Given the description of an element on the screen output the (x, y) to click on. 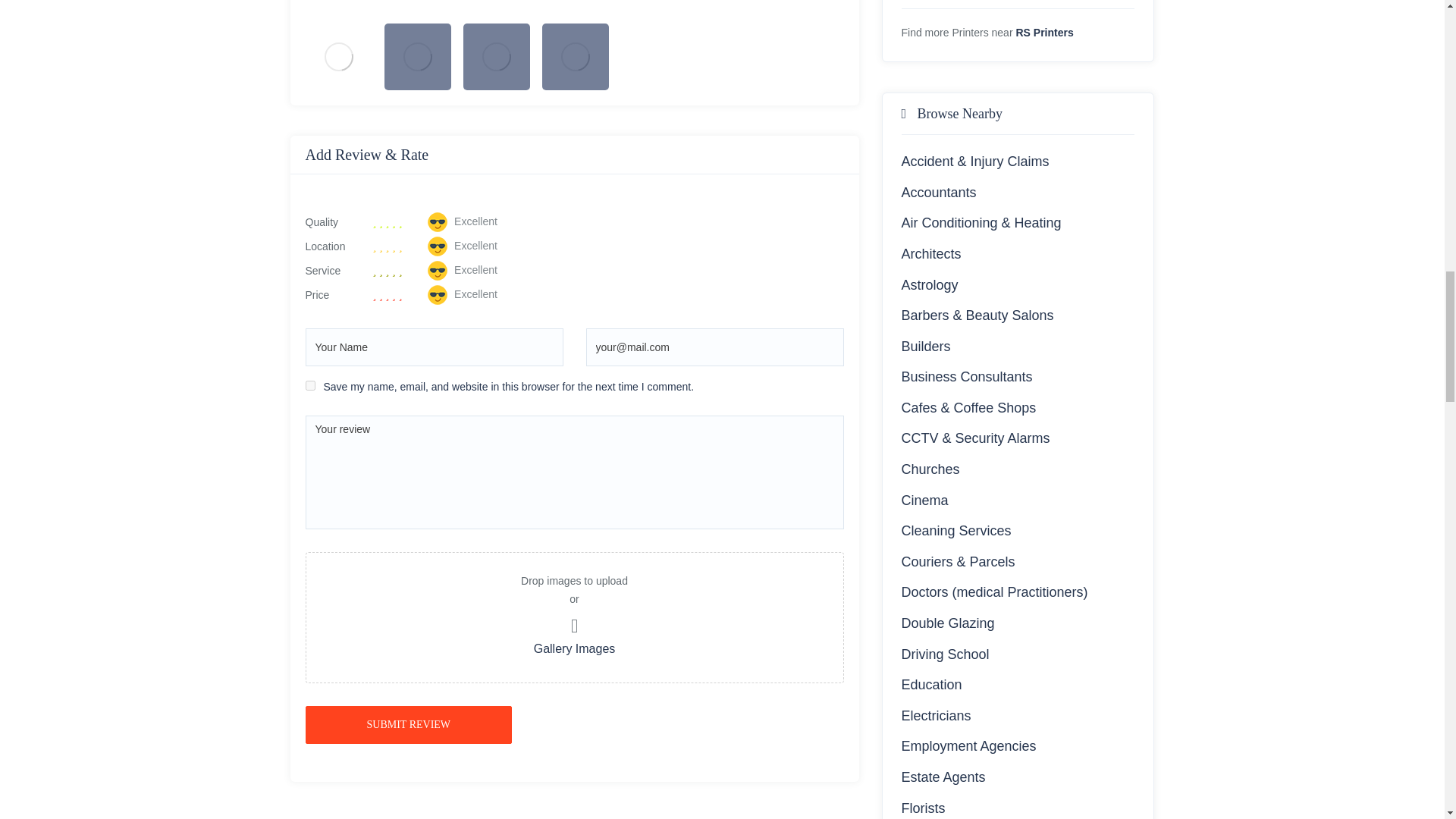
yes (309, 385)
Submit Review (408, 724)
